Given the description of an element on the screen output the (x, y) to click on. 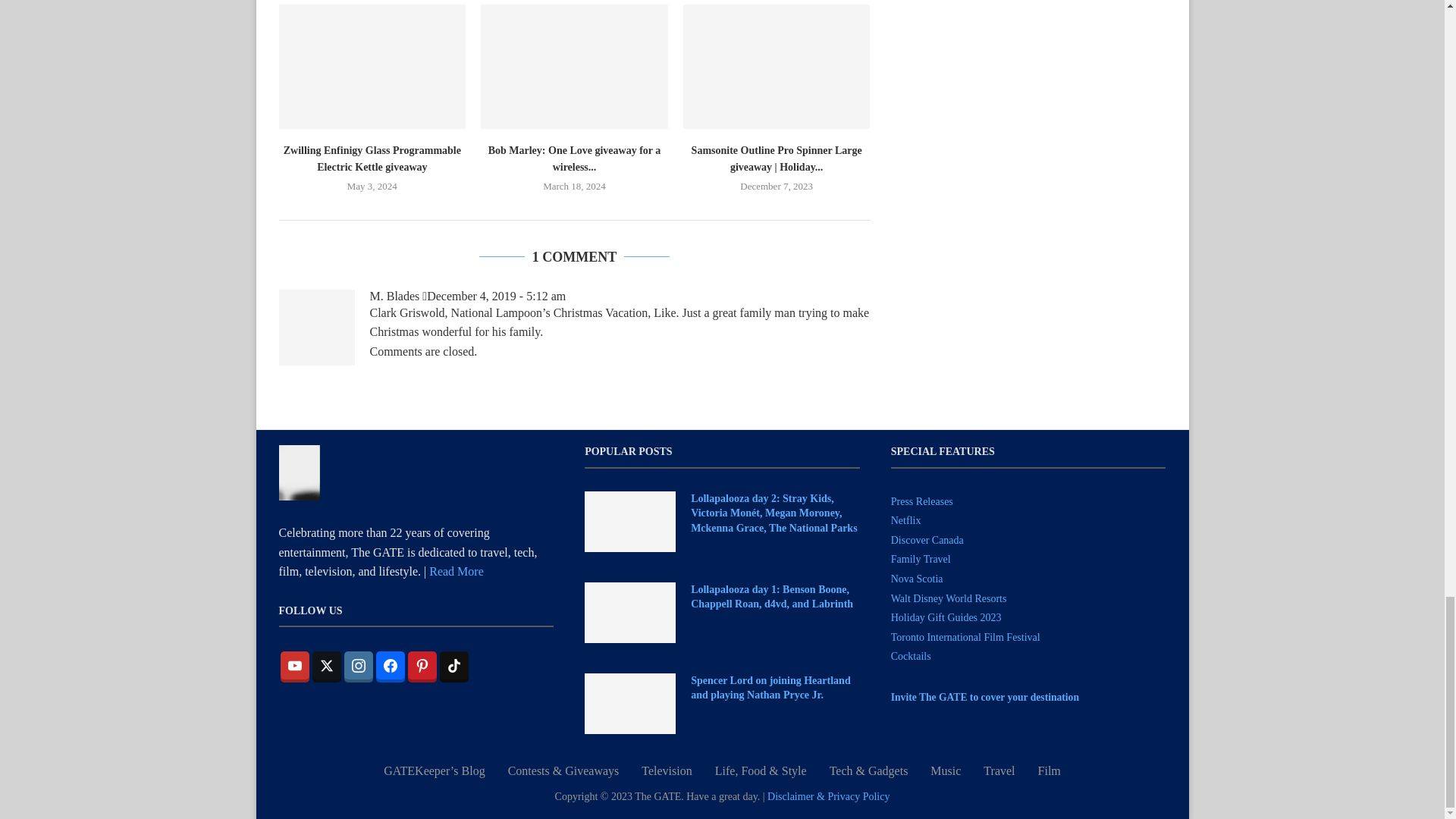
Wednesday, December 4, 2019, 5:12 am (494, 295)
